Given the description of an element on the screen output the (x, y) to click on. 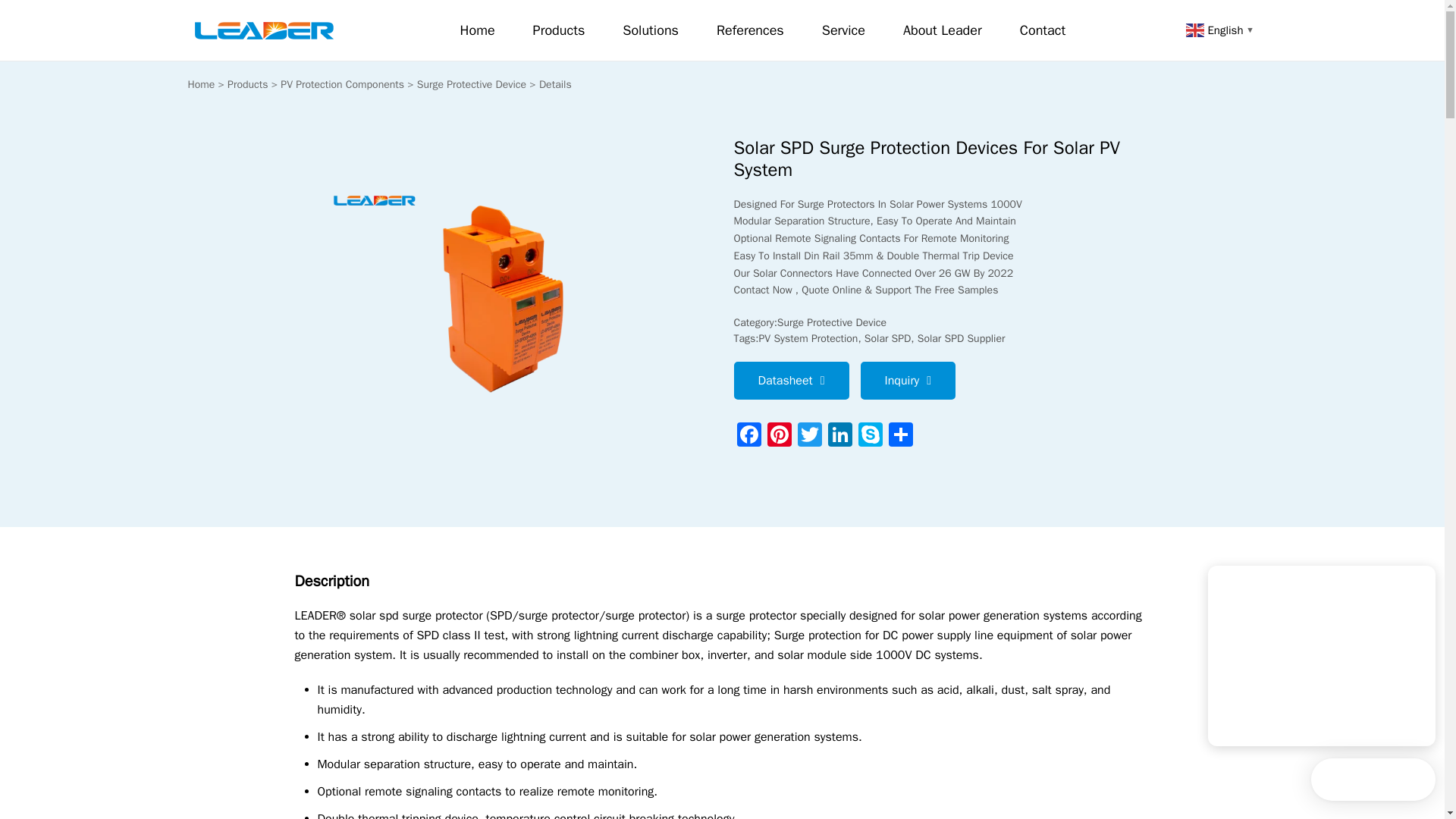
Twitter (809, 436)
LEADER GROUP (263, 21)
Pinterest (779, 436)
Skype (870, 436)
Smartsupp widget popup (1321, 655)
Facebook (748, 436)
LinkedIn (840, 436)
Smartsupp widget button (1373, 779)
